Given the description of an element on the screen output the (x, y) to click on. 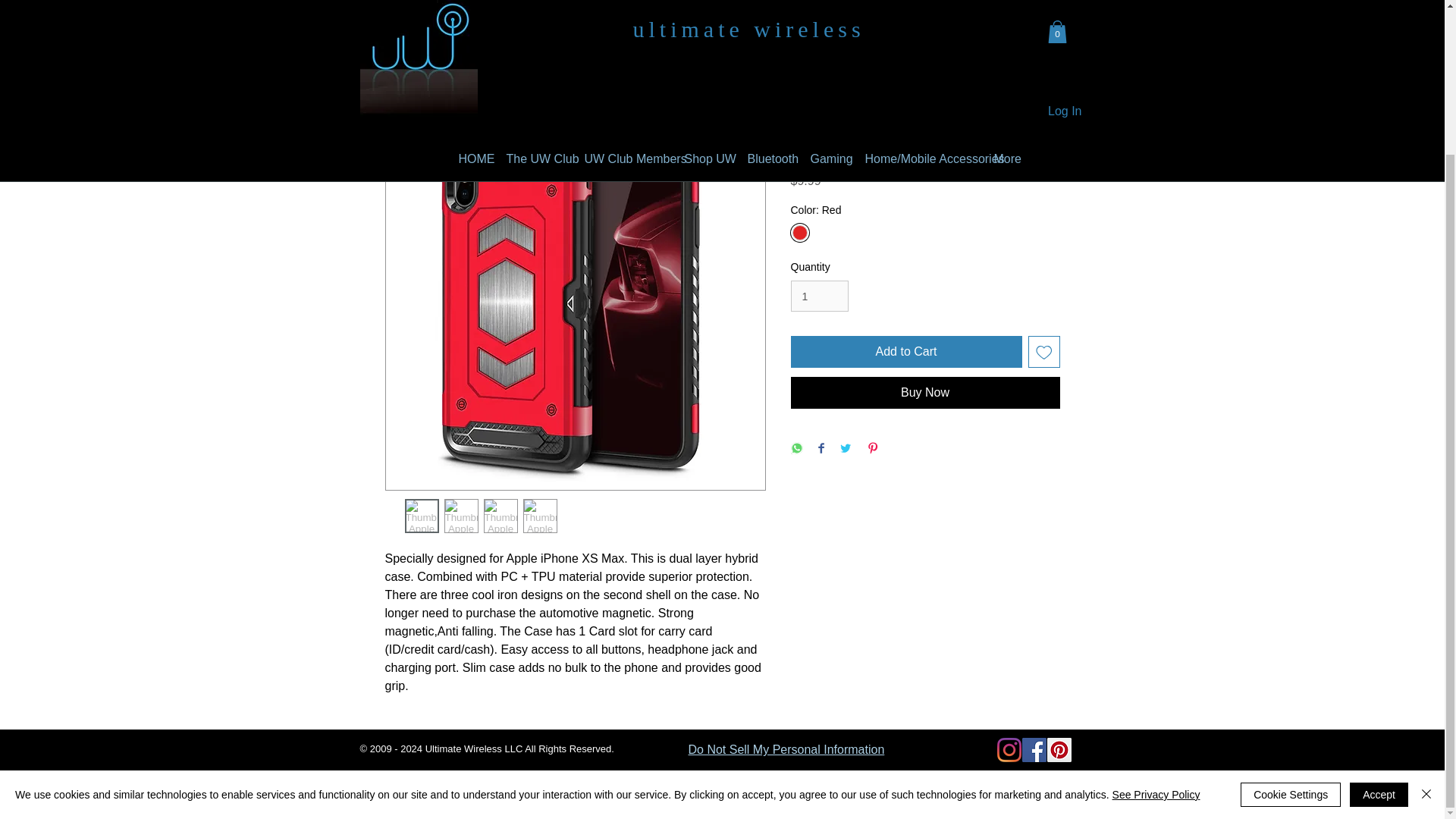
Shop UW (704, 20)
Bluetooth (766, 20)
HOME (470, 20)
Apple iPhone XS Max Hybrid Armor Card Holder Shockproof Case (605, 55)
UW Club Members (622, 20)
Home (401, 55)
The UW Club (533, 20)
Gaming (826, 20)
1 (818, 296)
